Given the description of an element on the screen output the (x, y) to click on. 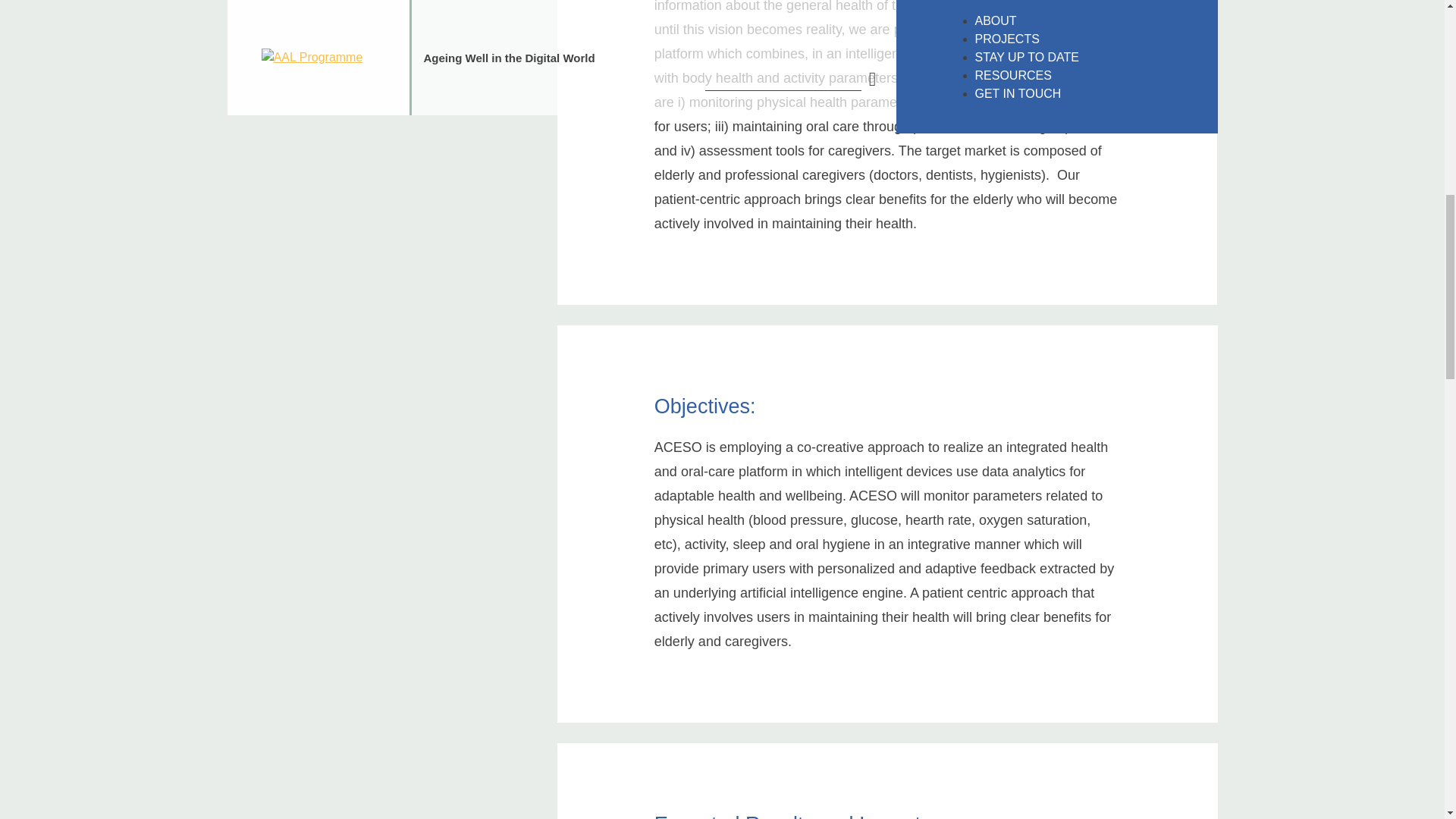
Read more (874, 729)
